Given the description of an element on the screen output the (x, y) to click on. 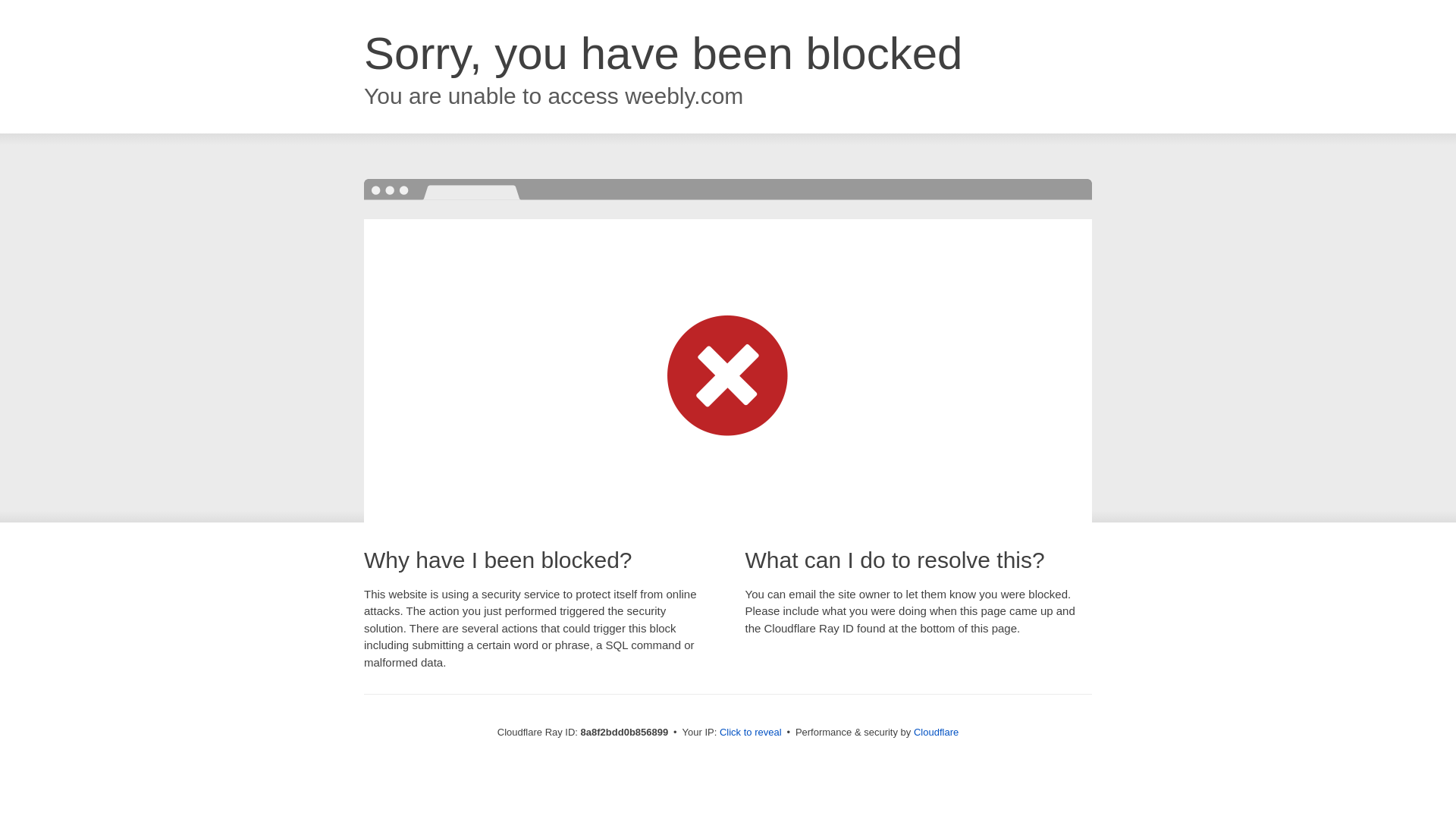
Cloudflare (936, 731)
Click to reveal (750, 732)
